Given the description of an element on the screen output the (x, y) to click on. 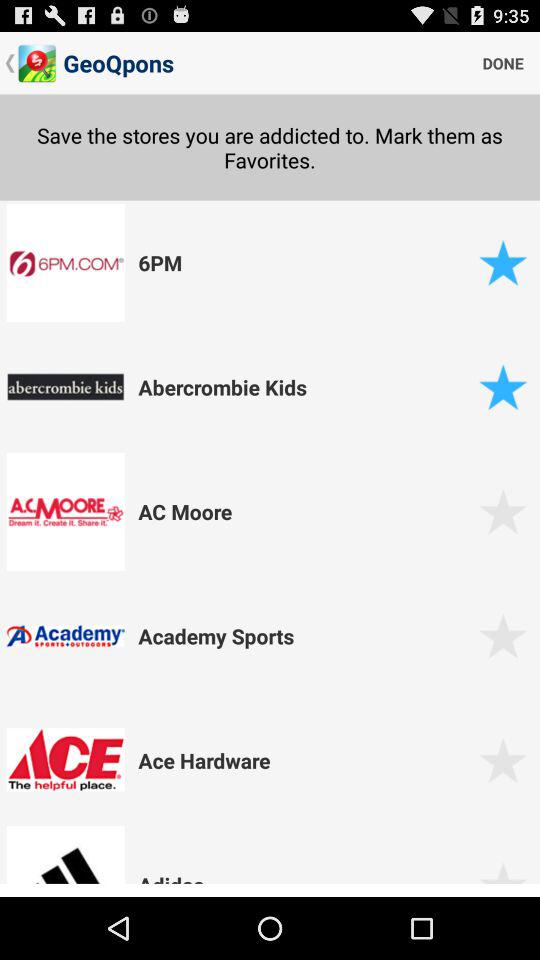
turn off adidas app (305, 879)
